Given the description of an element on the screen output the (x, y) to click on. 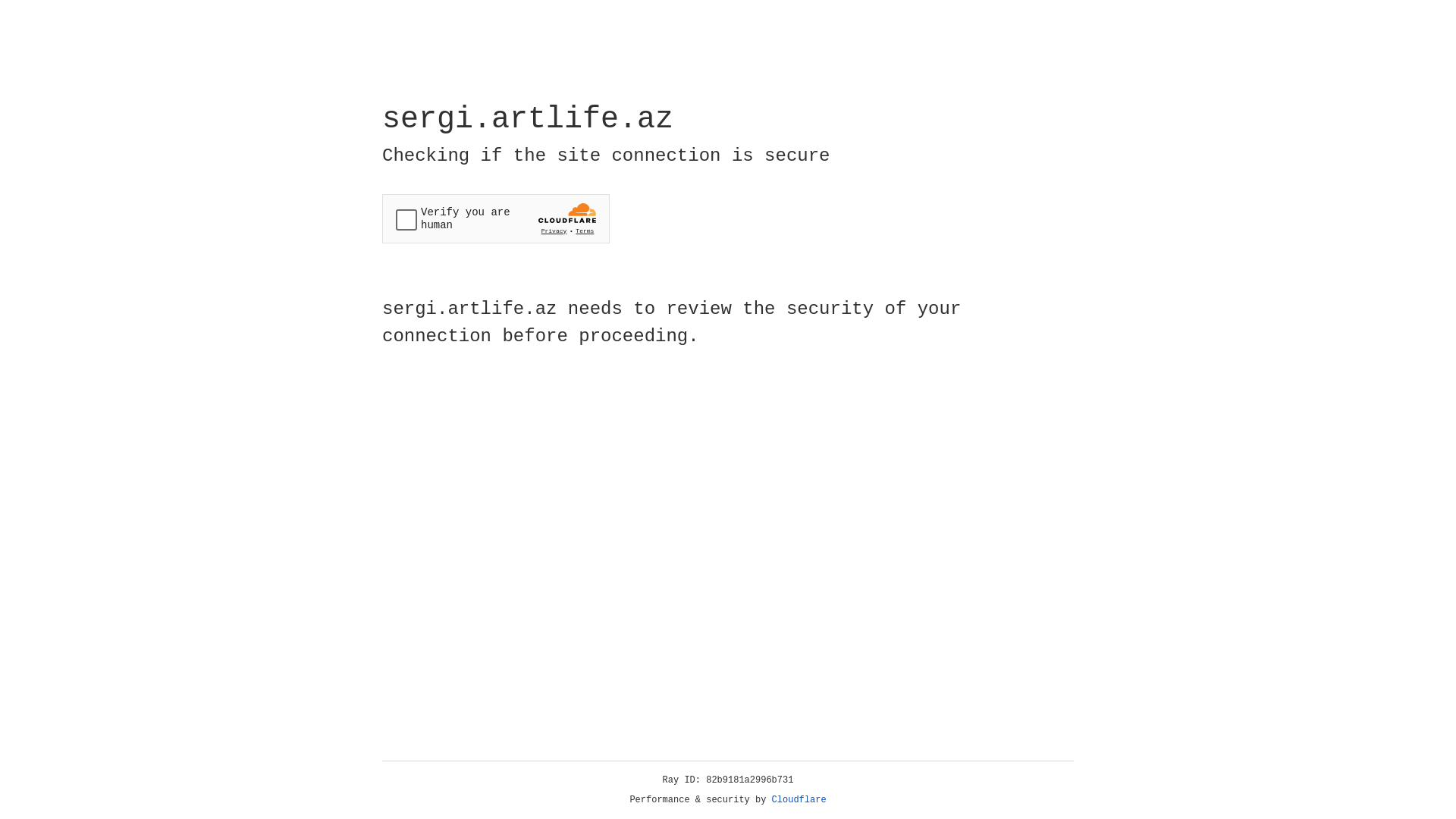
Widget containing a Cloudflare security challenge Element type: hover (495, 218)
Cloudflare Element type: text (798, 799)
